Given the description of an element on the screen output the (x, y) to click on. 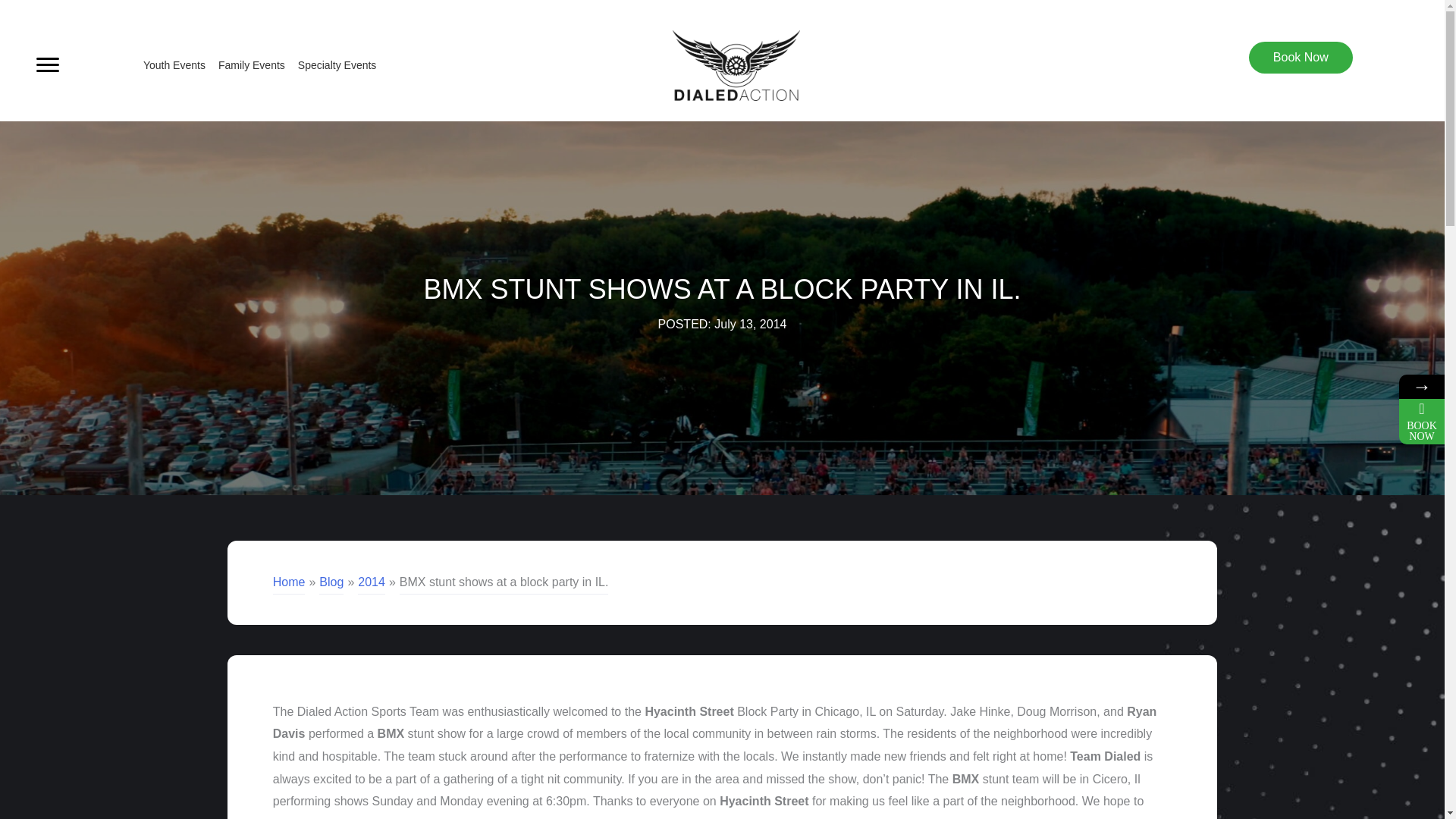
Youth Events (168, 65)
Book Now (1300, 57)
Family Events (245, 65)
Specialty Events (331, 65)
